Given the description of an element on the screen output the (x, y) to click on. 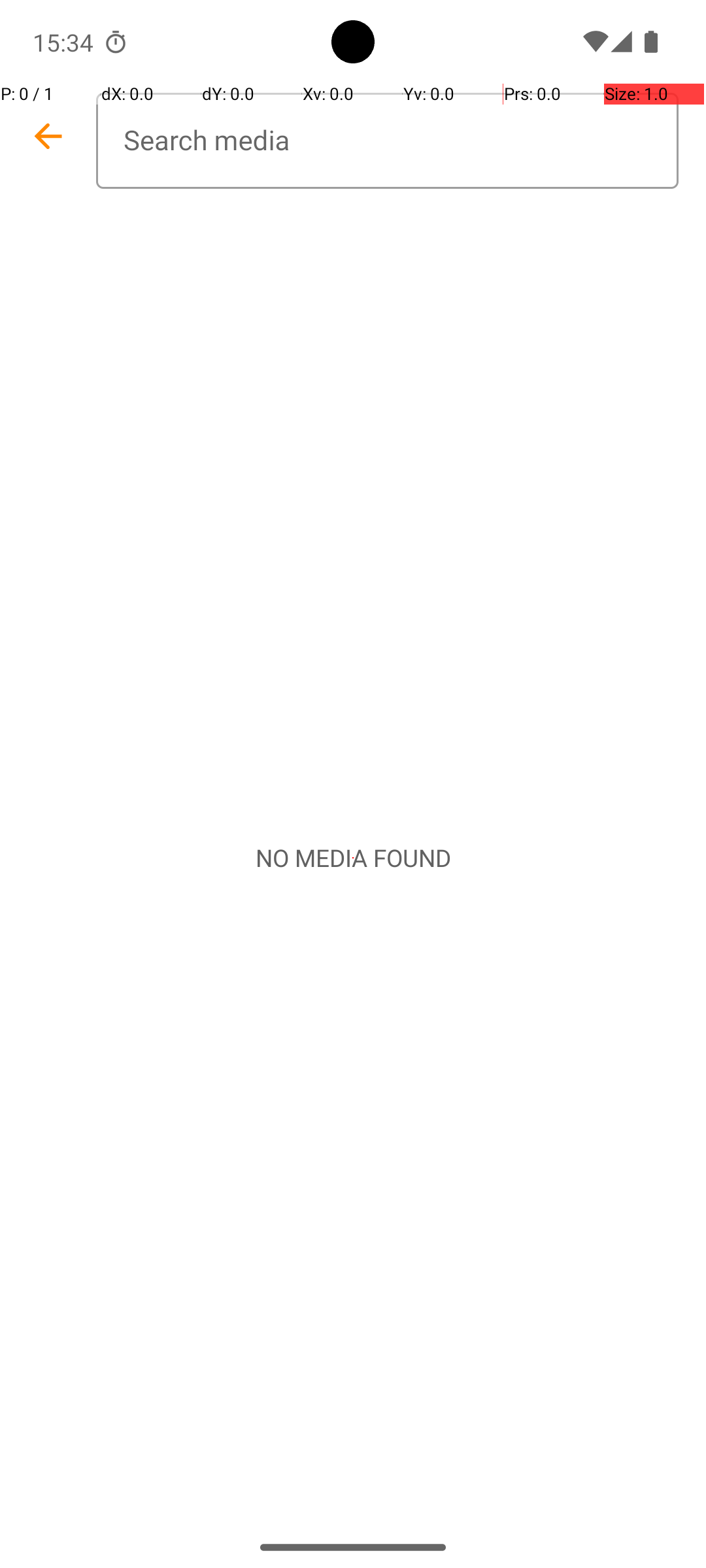
Search media Element type: android.widget.EditText (387, 140)
NO MEDIA FOUND Element type: android.widget.TextView (353, 857)
